Given the description of an element on the screen output the (x, y) to click on. 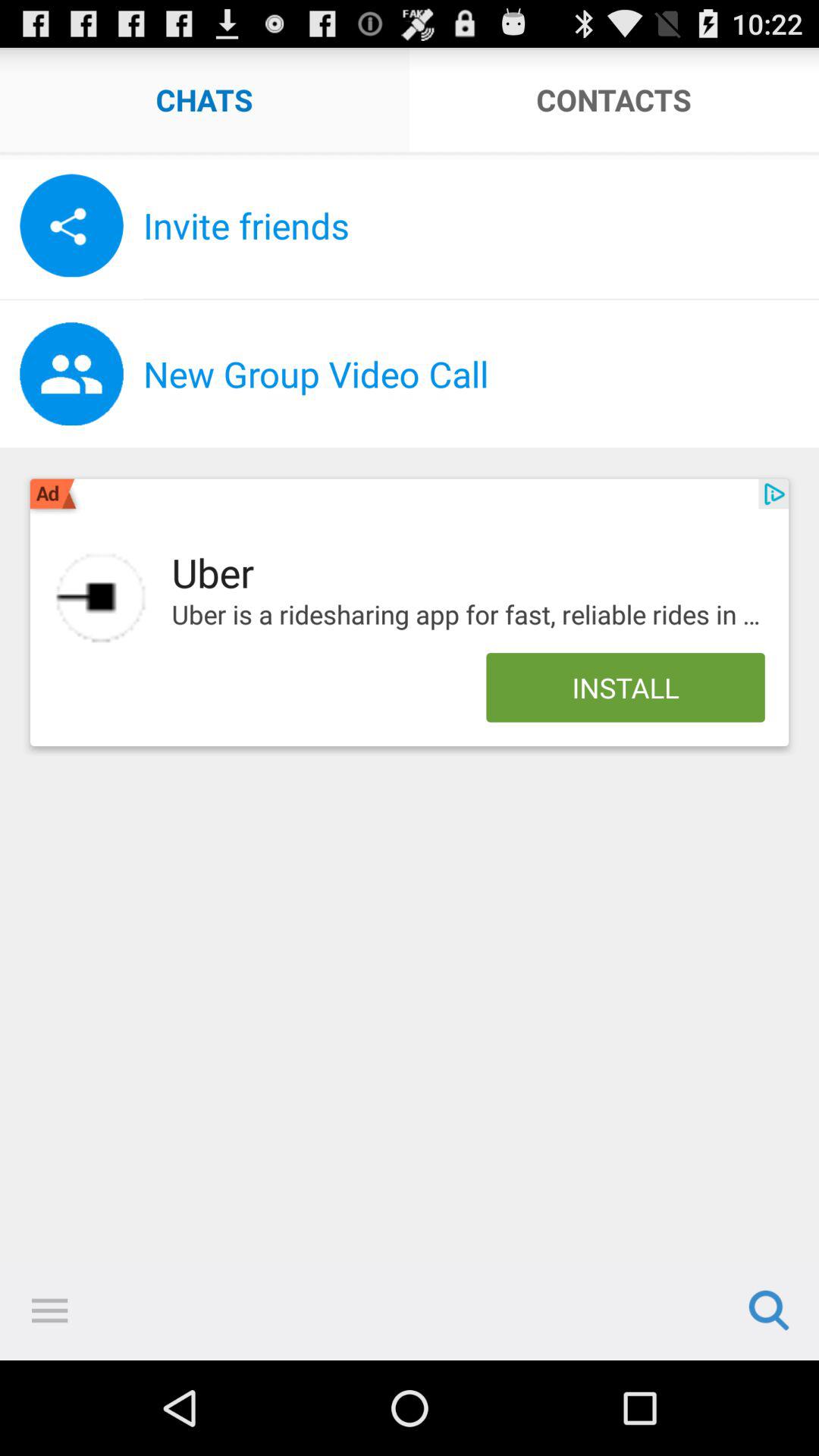
turn on app below the uber is a item (625, 687)
